Given the description of an element on the screen output the (x, y) to click on. 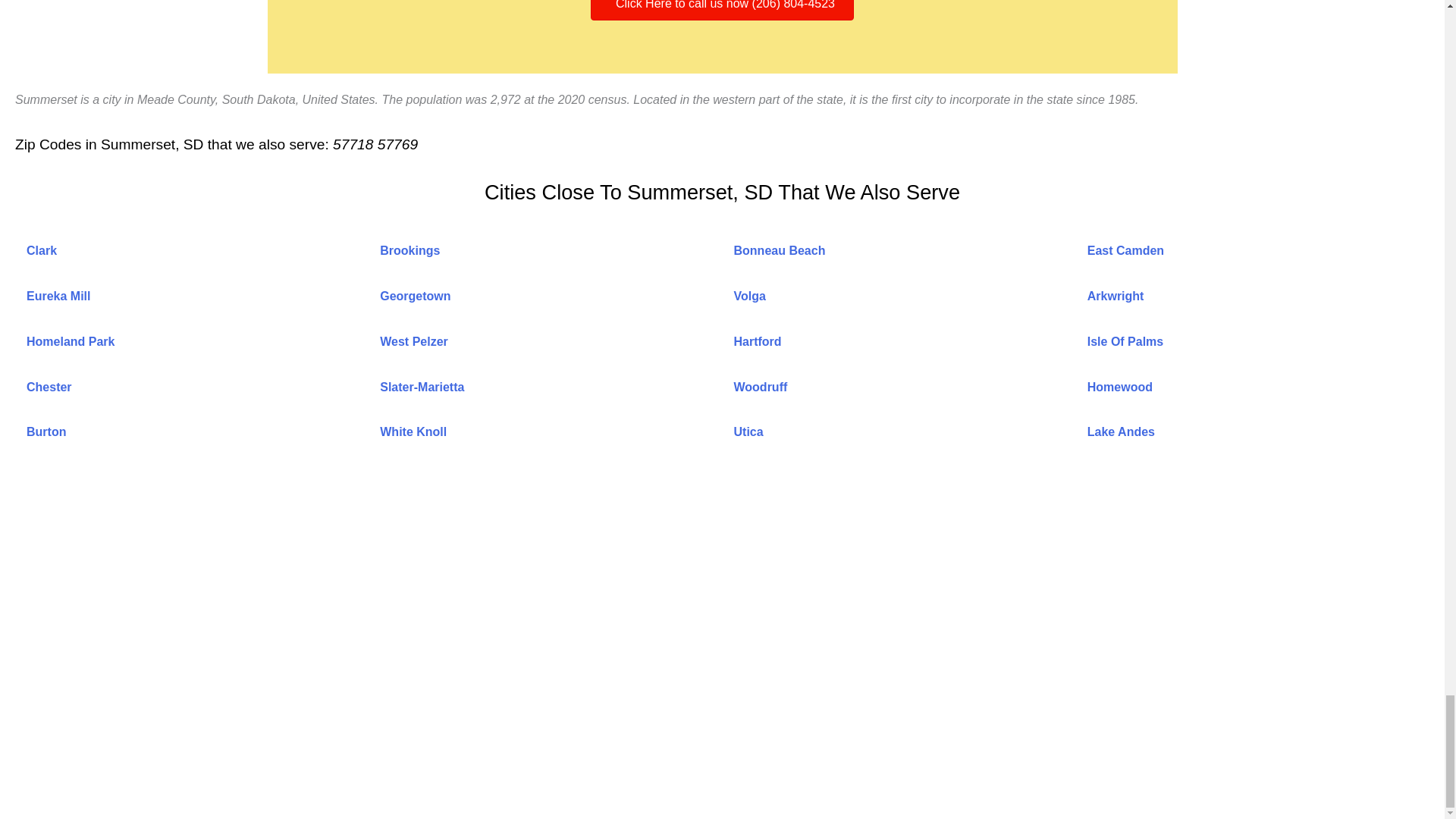
Brookings (409, 250)
Volga (749, 295)
Eureka Mill (58, 295)
Homeland Park (70, 341)
Bonneau Beach (779, 250)
Georgetown (414, 295)
West Pelzer (414, 341)
Isle Of Palms (1125, 341)
Hartford (757, 341)
Clark (41, 250)
